Given the description of an element on the screen output the (x, y) to click on. 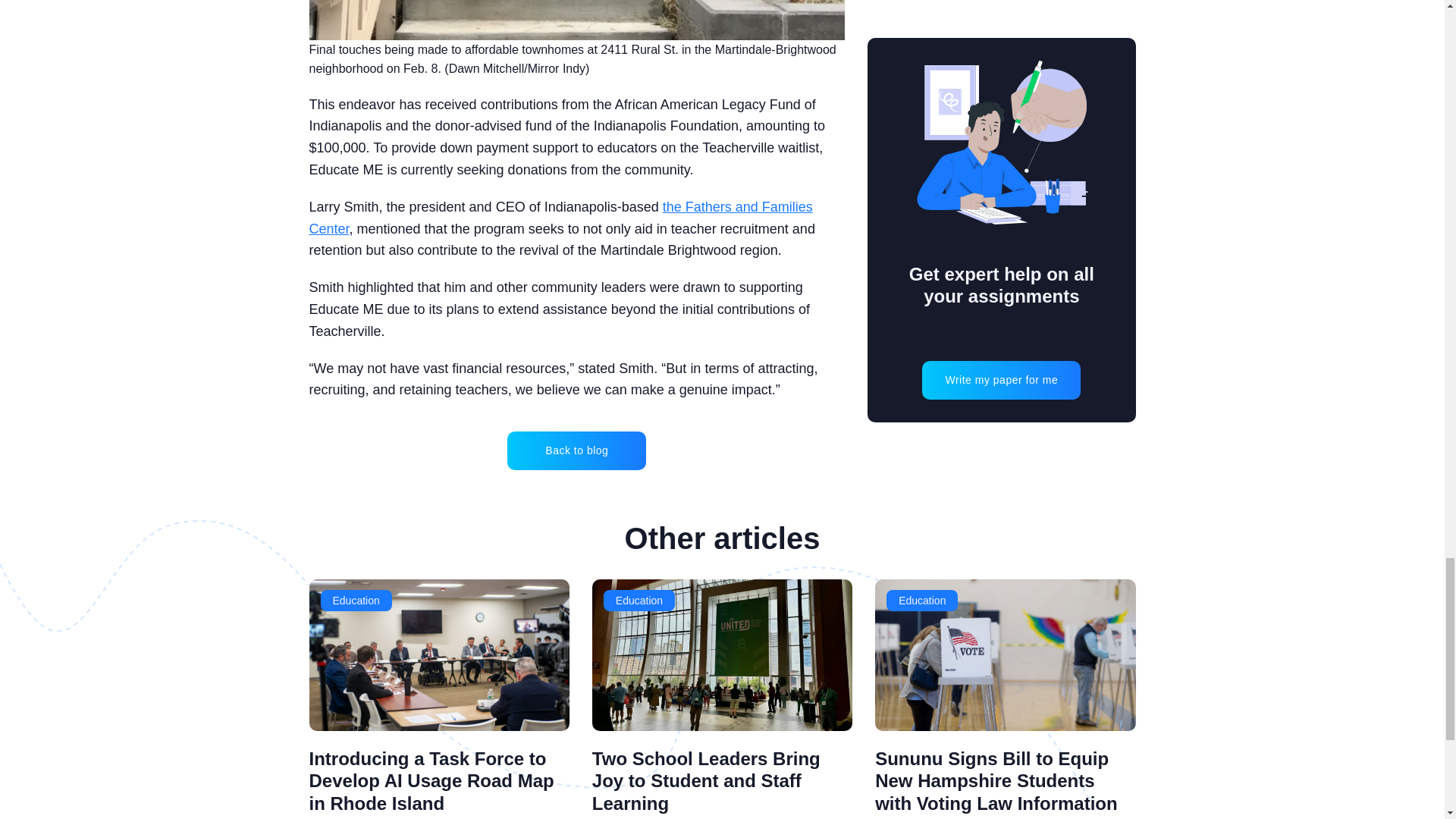
Education (639, 599)
Education (355, 599)
Two School Leaders Bring Joy to Student and Staff Learning (706, 781)
Back to blog (576, 450)
Education (922, 599)
the Fathers and Families Center (560, 217)
